Given the description of an element on the screen output the (x, y) to click on. 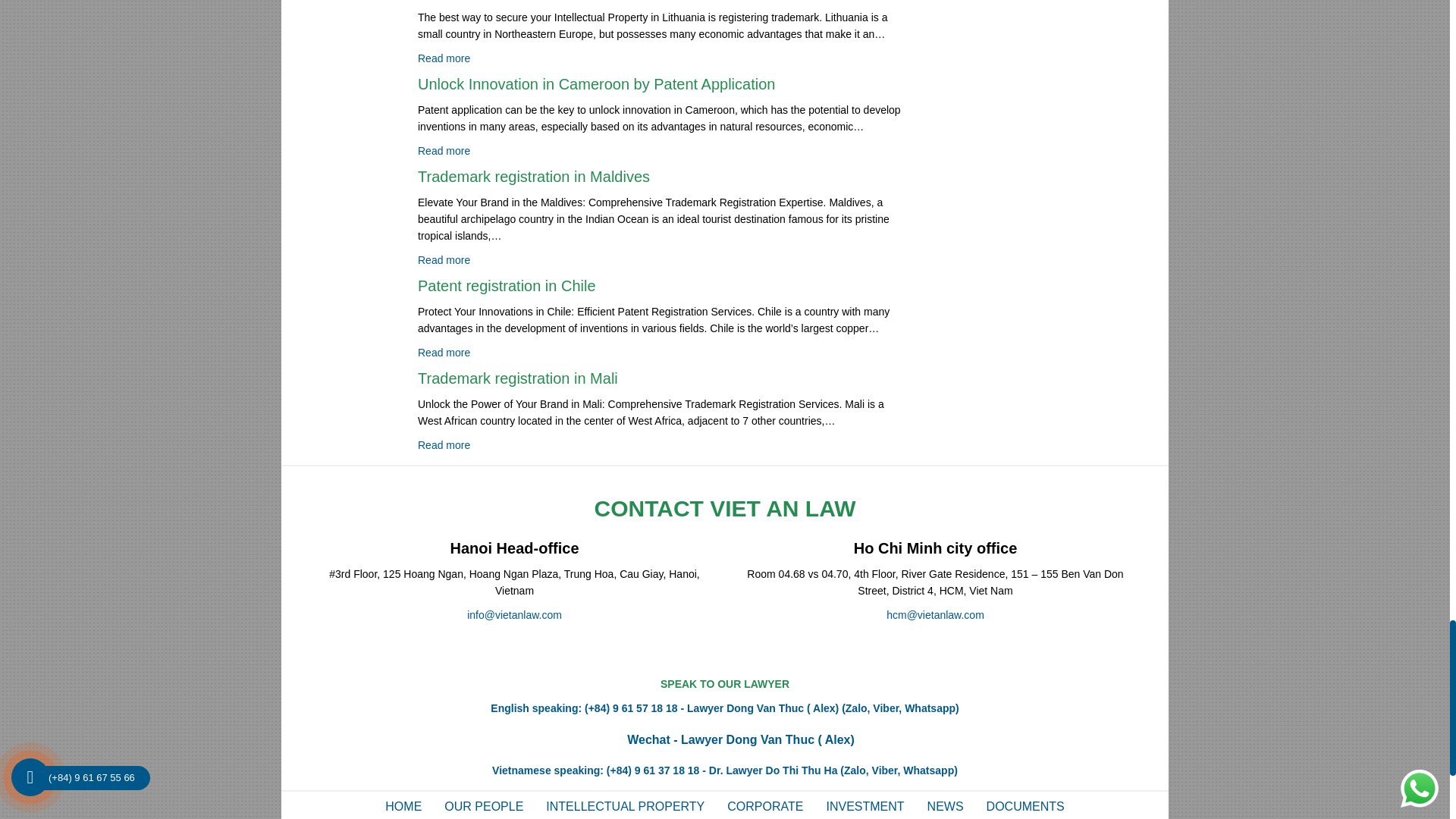
Trademark registration in Maldives (349, 217)
Unlock Innovation in Cameroon by Patent Application (349, 116)
Register Trademark in Lithuania: A Step-by-Step Guide (349, 28)
Unlock Innovation in Cameroon by Patent Application (443, 150)
Register Trademark in Lithuania: A Step-by-Step Guide (443, 58)
Unlock Innovation in Cameroon by Patent Application (595, 84)
